Given the description of an element on the screen output the (x, y) to click on. 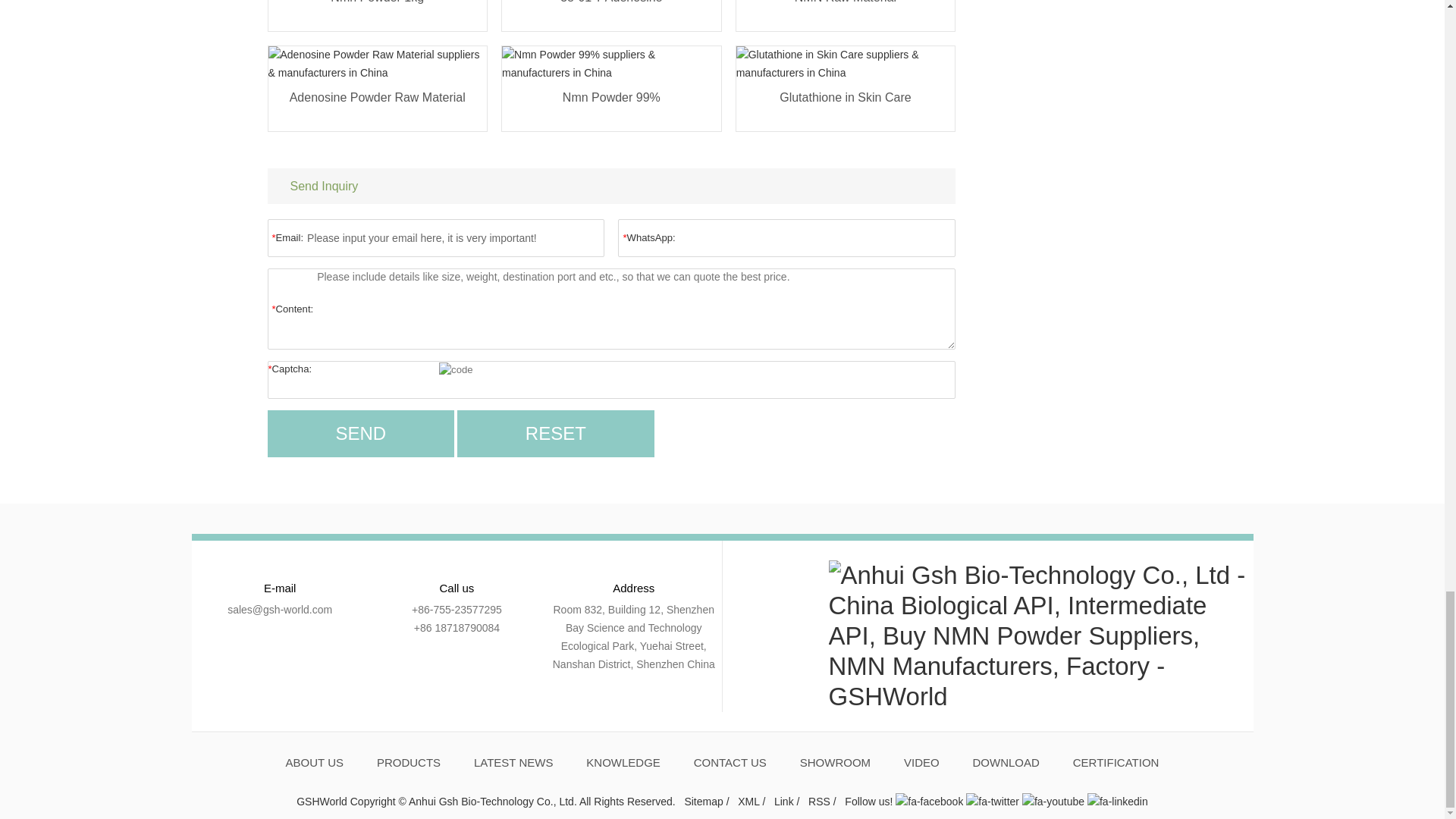
Adenosine Powder Raw Material (377, 106)
58-61-7 Adenosine (611, 12)
NMN Raw Material (845, 12)
Nmn Powder 1kg (377, 12)
Nmn Powder 1kg (377, 12)
58-61-7 Adenosine (611, 12)
NMN Raw Material (845, 12)
Adenosine Powder Raw Material (377, 106)
Glutathione in Skin Care (845, 106)
